Given the description of an element on the screen output the (x, y) to click on. 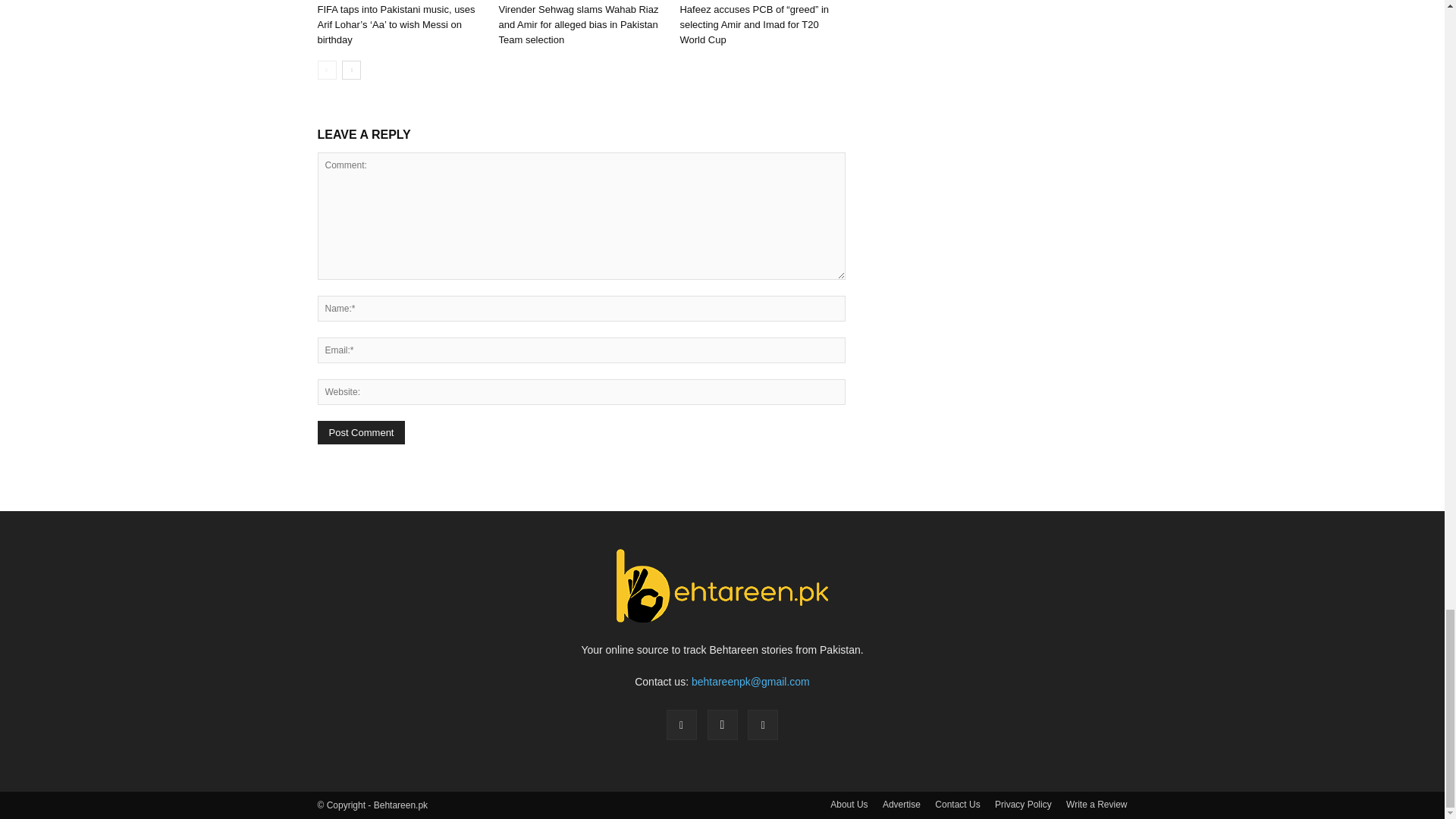
Post Comment (360, 432)
